Given the description of an element on the screen output the (x, y) to click on. 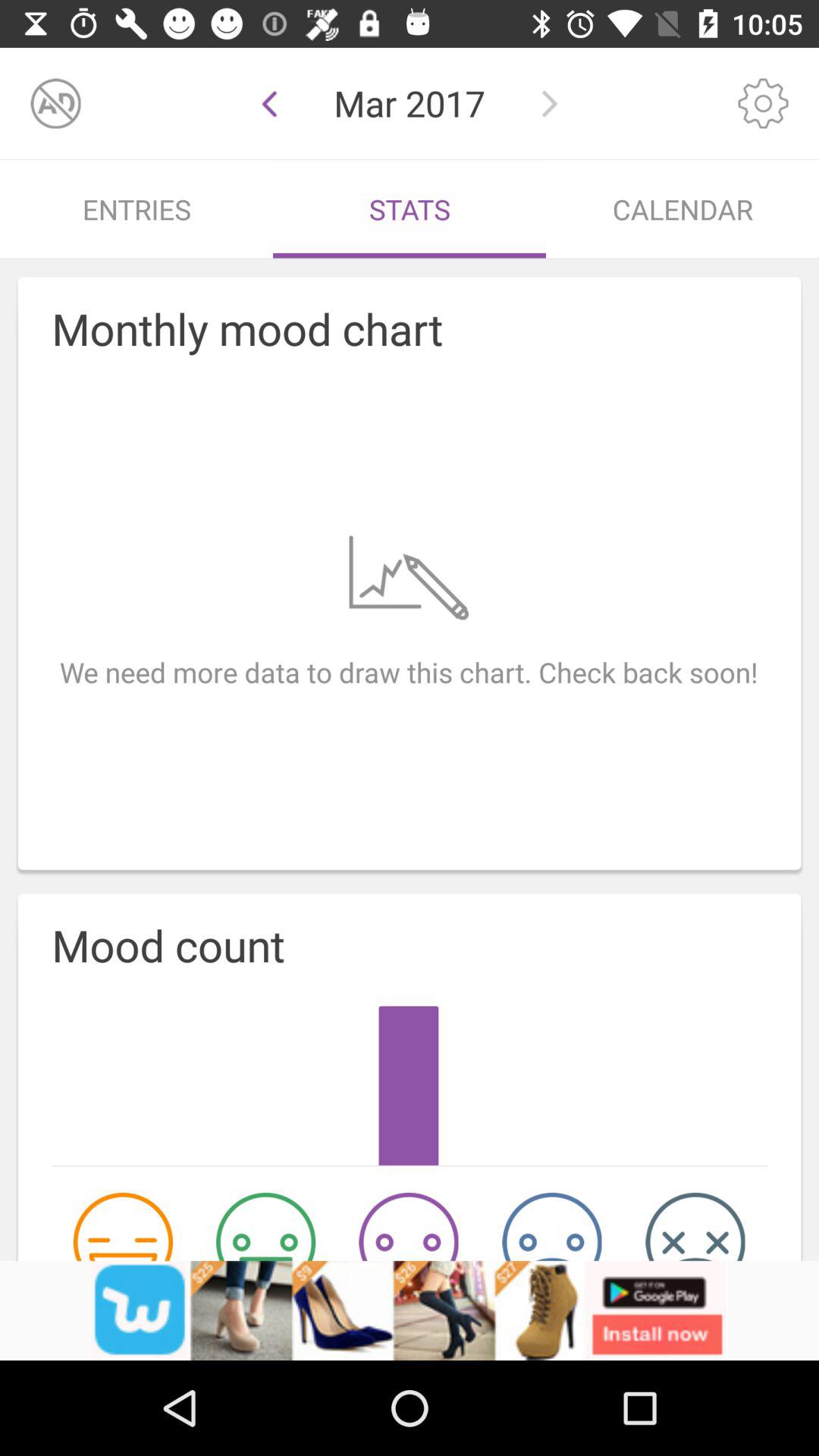
add the option (409, 1310)
